Given the description of an element on the screen output the (x, y) to click on. 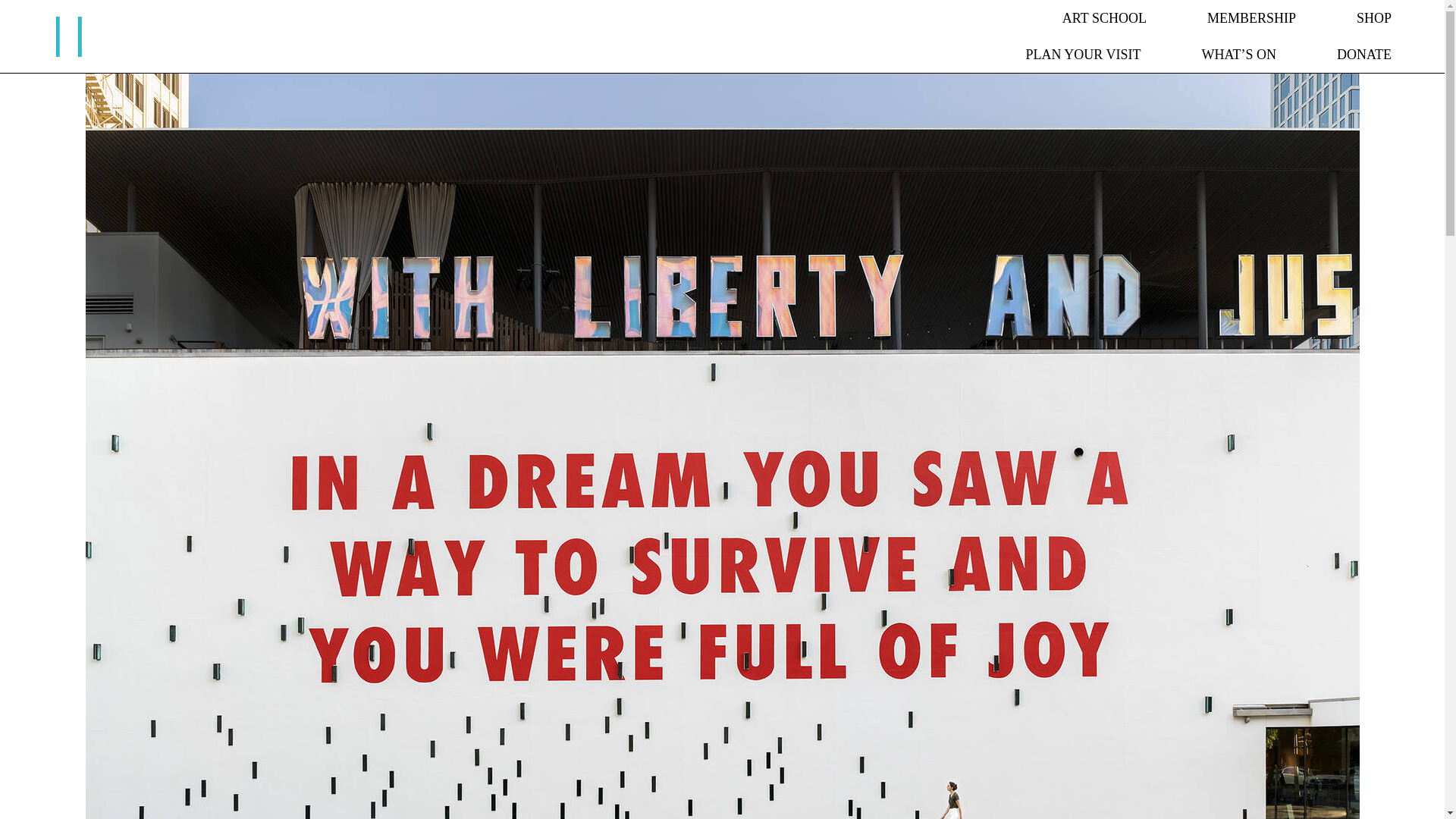
ART SCHOOL (1104, 18)
SHOP (1374, 18)
PLAN YOUR VISIT (1082, 54)
MEMBERSHIP (1251, 18)
DONATE (1364, 54)
